Given the description of an element on the screen output the (x, y) to click on. 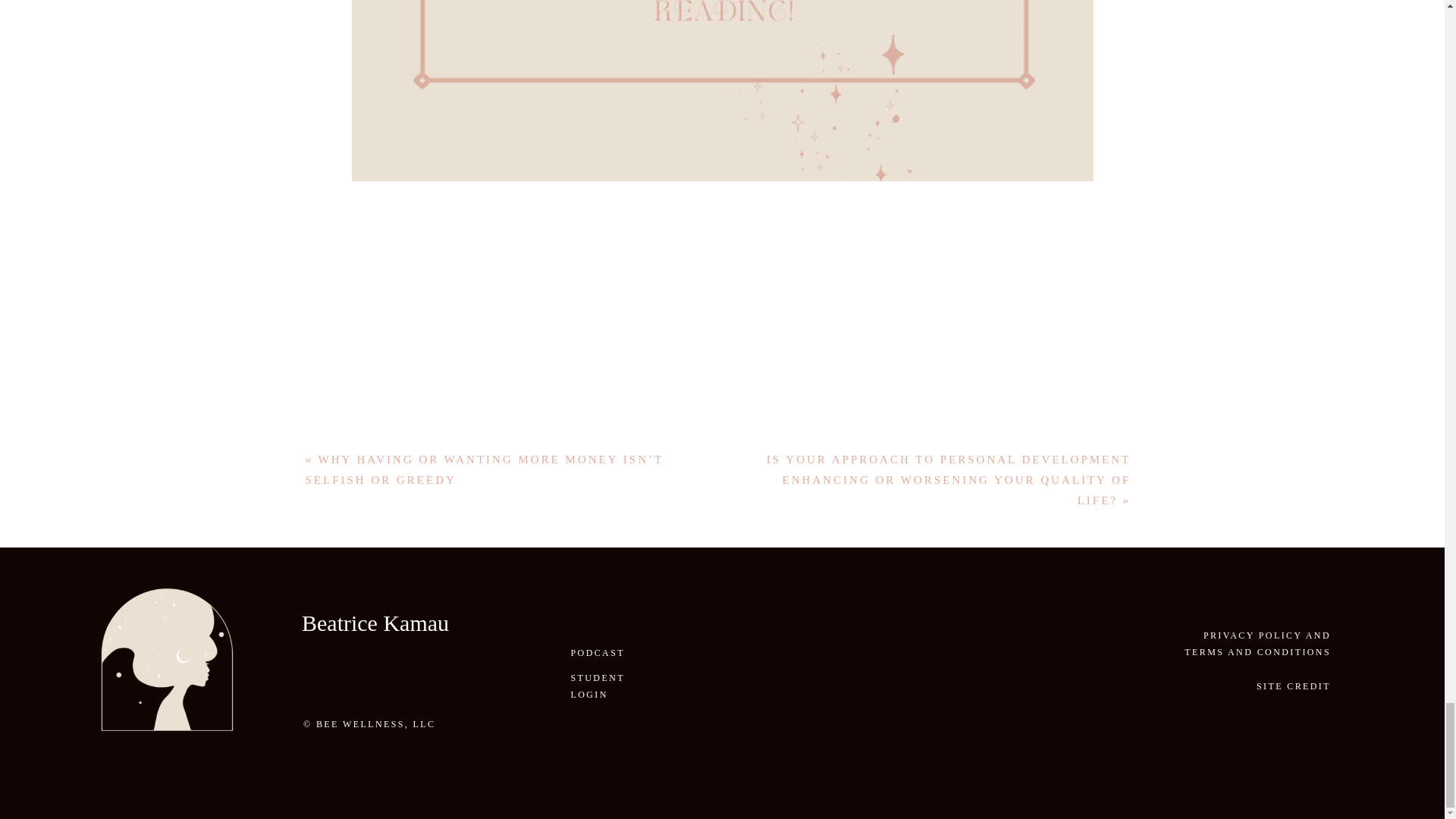
PRIVACY POLICY AND TERMS AND CONDITIONS (1256, 633)
SITE CREDIT (1285, 685)
PODCAST (599, 652)
STUDENT LOGIN (608, 676)
